Given the description of an element on the screen output the (x, y) to click on. 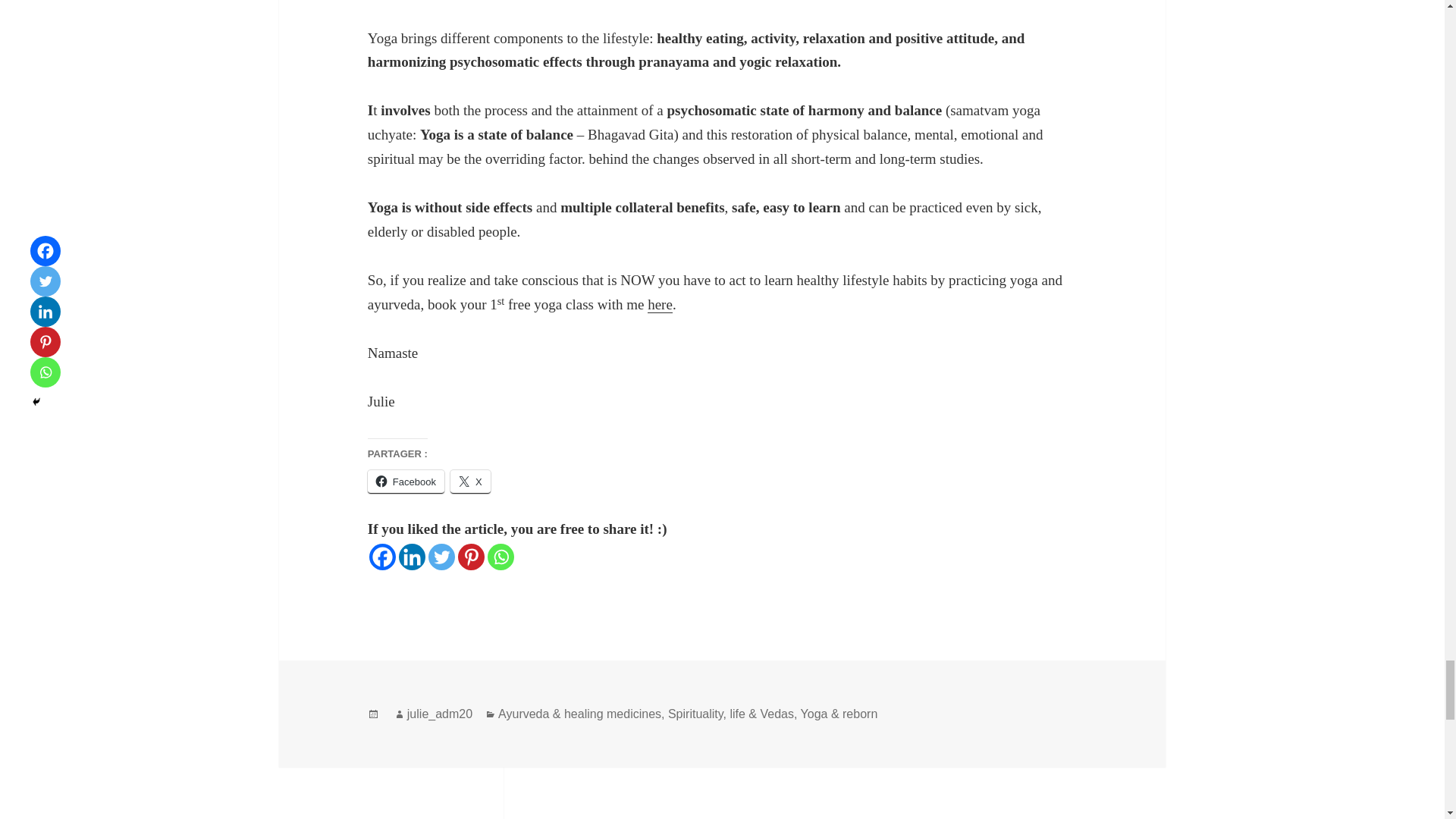
Linkedin (411, 556)
Twitter (441, 556)
Click to share on X (469, 481)
Facebook (406, 481)
here (659, 304)
Facebook (382, 556)
Click to share on Facebook (406, 481)
Whatsapp (500, 556)
Pinterest (471, 556)
